Given the description of an element on the screen output the (x, y) to click on. 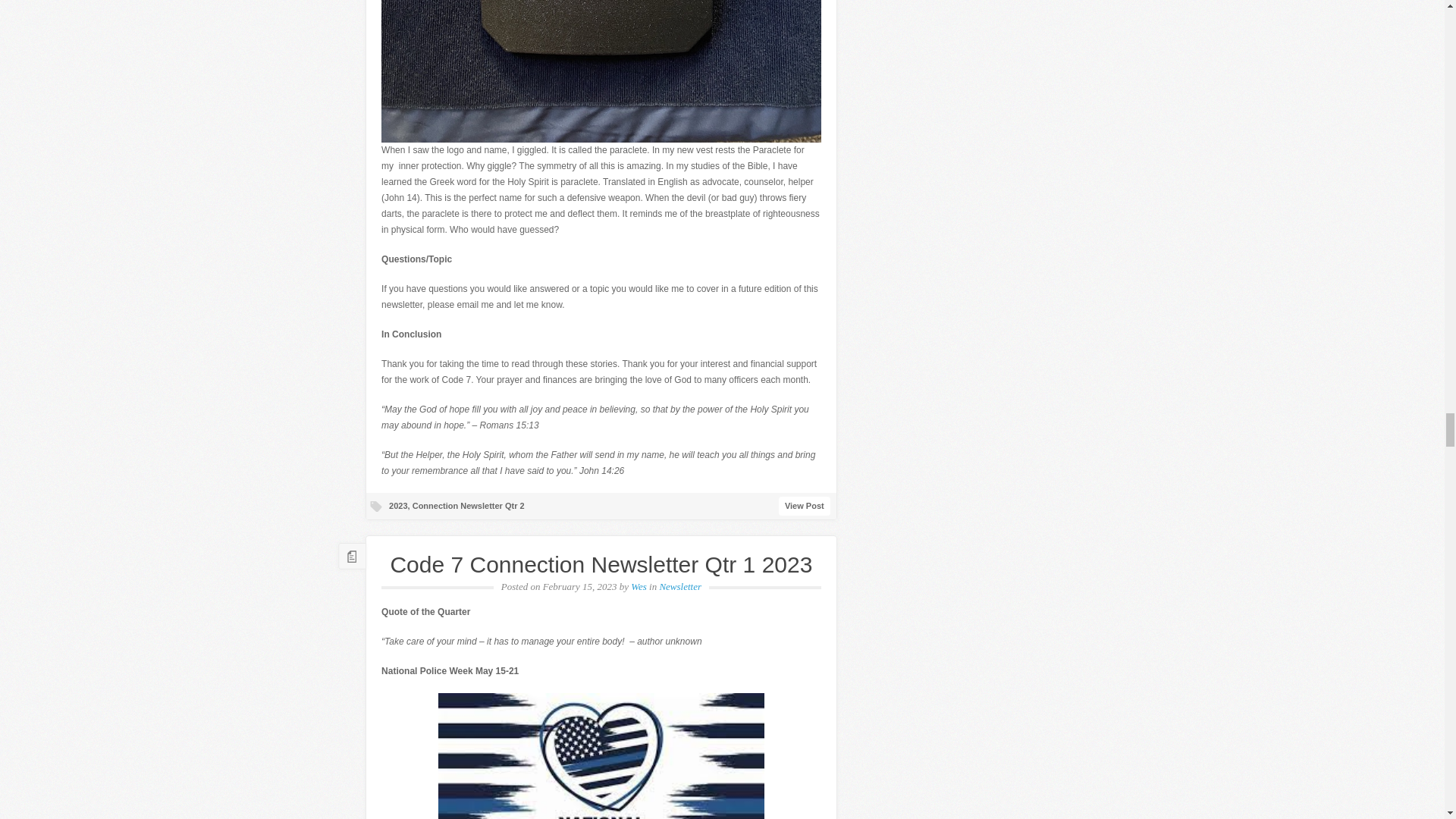
View Post (803, 505)
Code 7 Connection Newsletter Qtr 1 2023 (601, 564)
2023 (397, 505)
Connection Newsletter Qtr 2 (468, 505)
View all posts by Wes (638, 586)
